Given the description of an element on the screen output the (x, y) to click on. 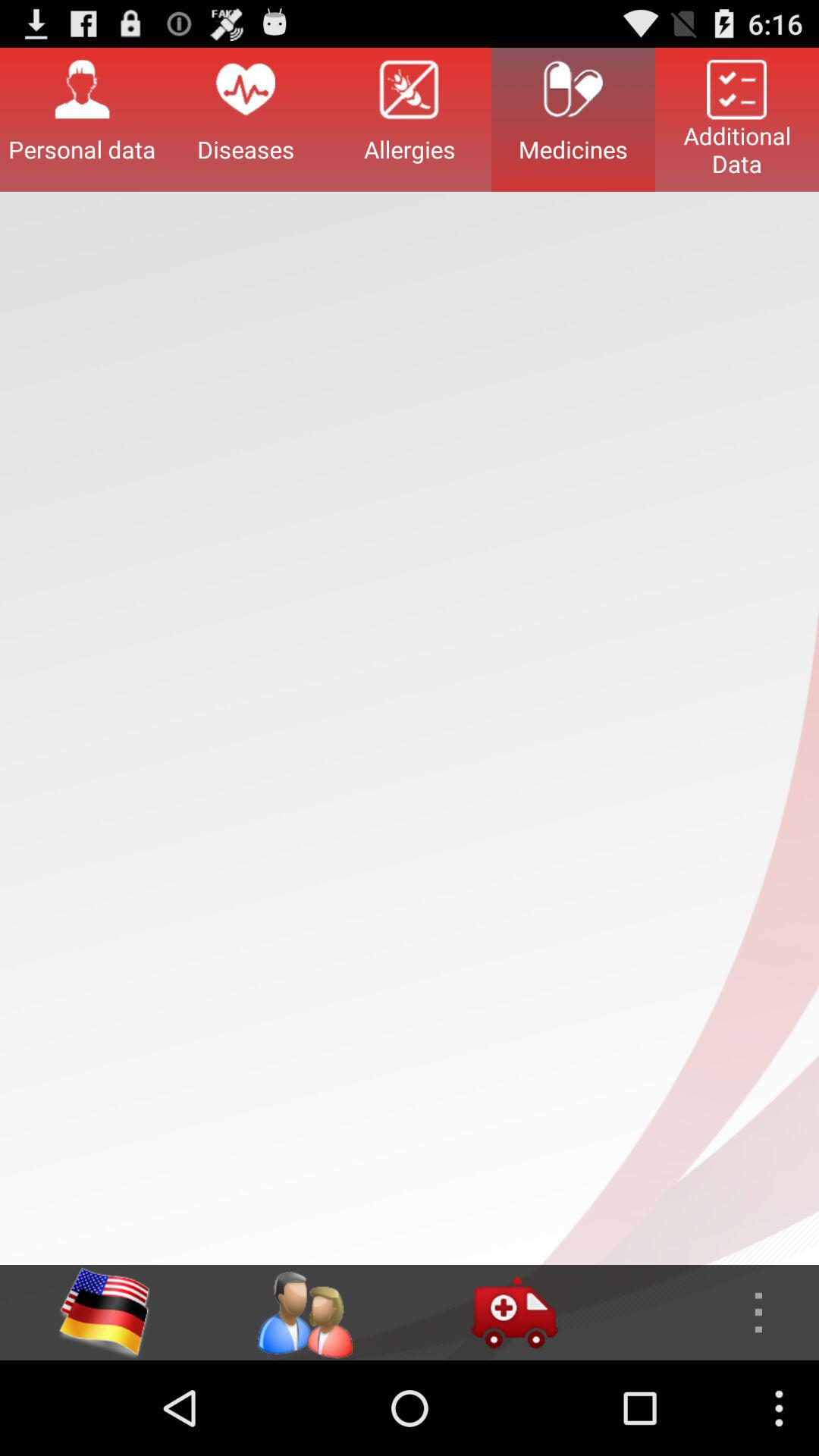
flip to the personal data item (81, 119)
